Given the description of an element on the screen output the (x, y) to click on. 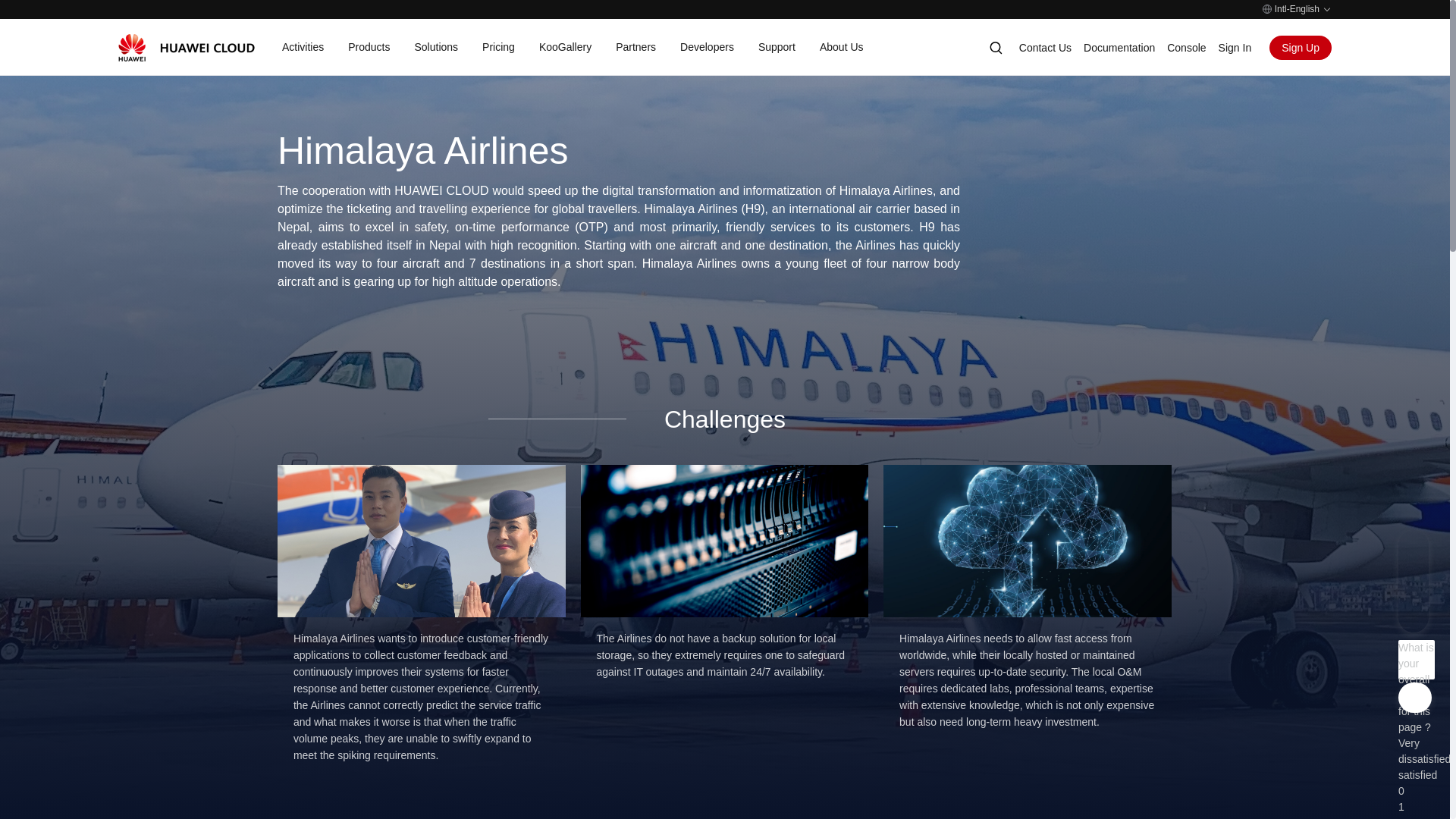
KooGallery (564, 47)
Developers (706, 47)
Console (1186, 47)
Contact Us (1045, 47)
Documentation (1118, 47)
